Given the description of an element on the screen output the (x, y) to click on. 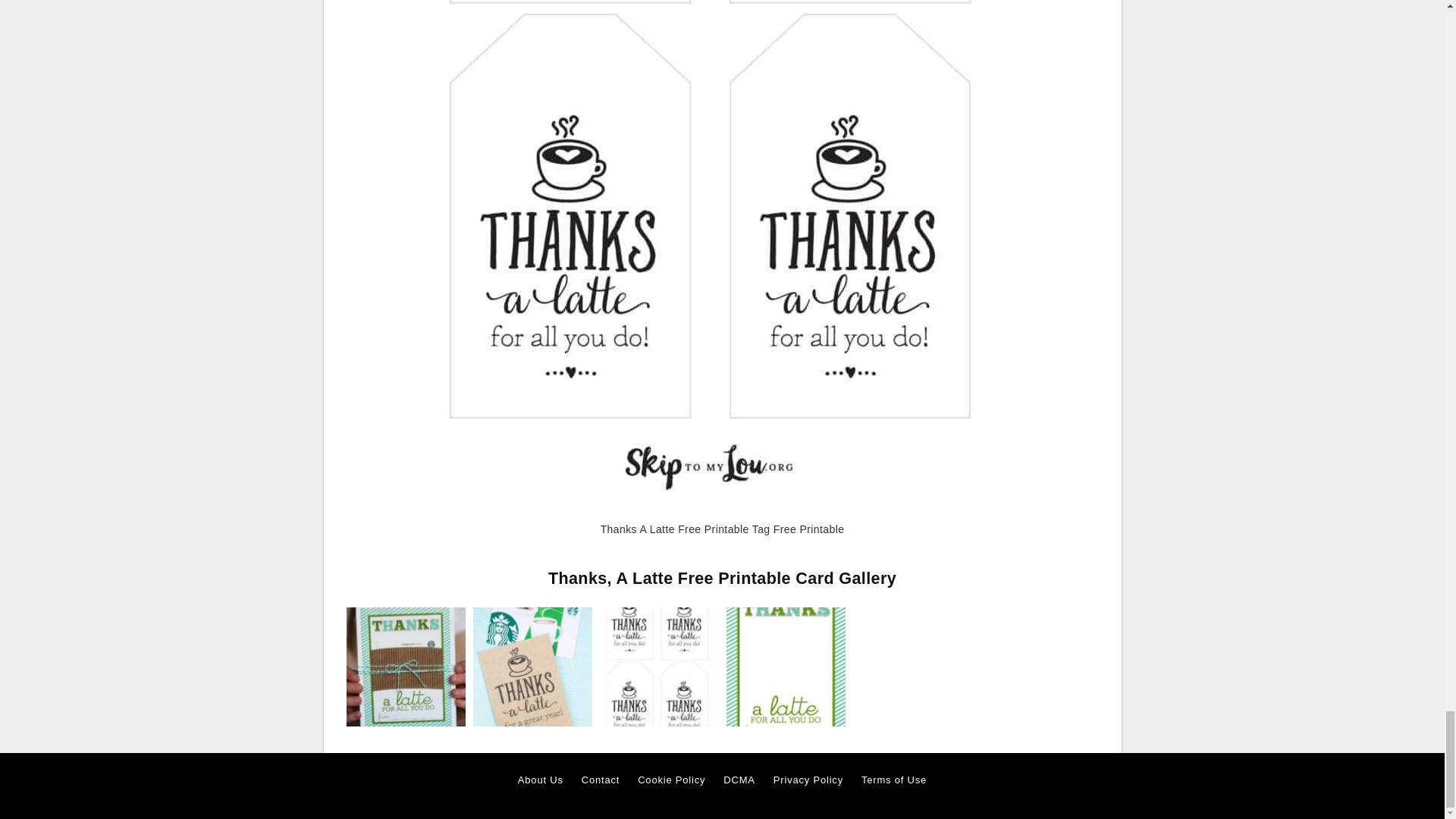
Thanks A Latte Free Printable Free Printable (405, 666)
Terms of Use (893, 780)
DCMA (738, 780)
Thanks A Latte FREE Printable Gift Tags Skip To My Lou (532, 666)
Contact (600, 780)
Thanks A Latte FREE Printable Gift Tags Skip To My Lou (532, 666)
Thanks A Latte Free Printable Free Printable (405, 666)
About Us (540, 780)
Privacy Policy (808, 780)
